Given the description of an element on the screen output the (x, y) to click on. 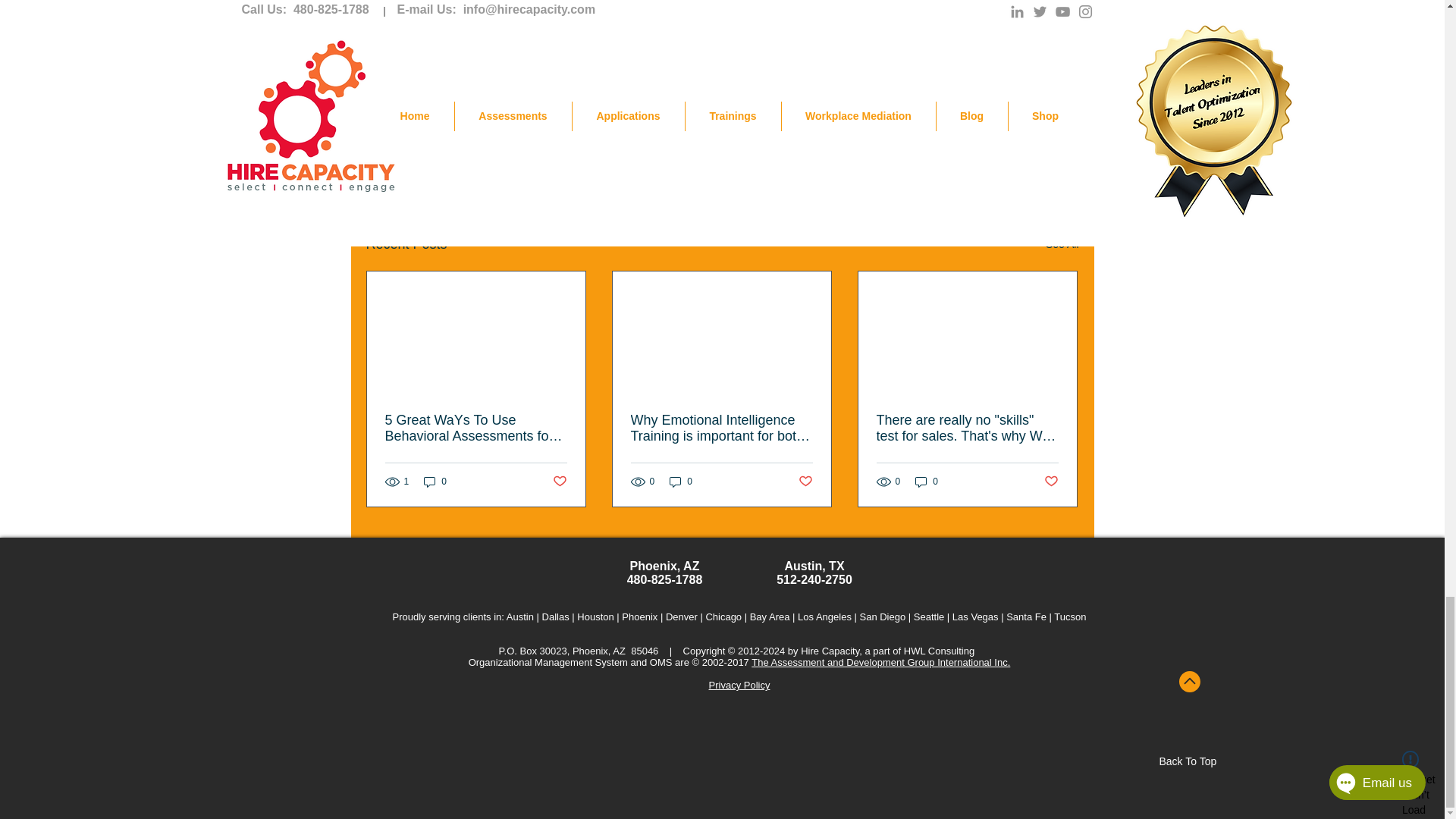
Post not marked as liked (995, 161)
0 (435, 481)
See All (1061, 244)
Post not marked as liked (558, 480)
